Given the description of an element on the screen output the (x, y) to click on. 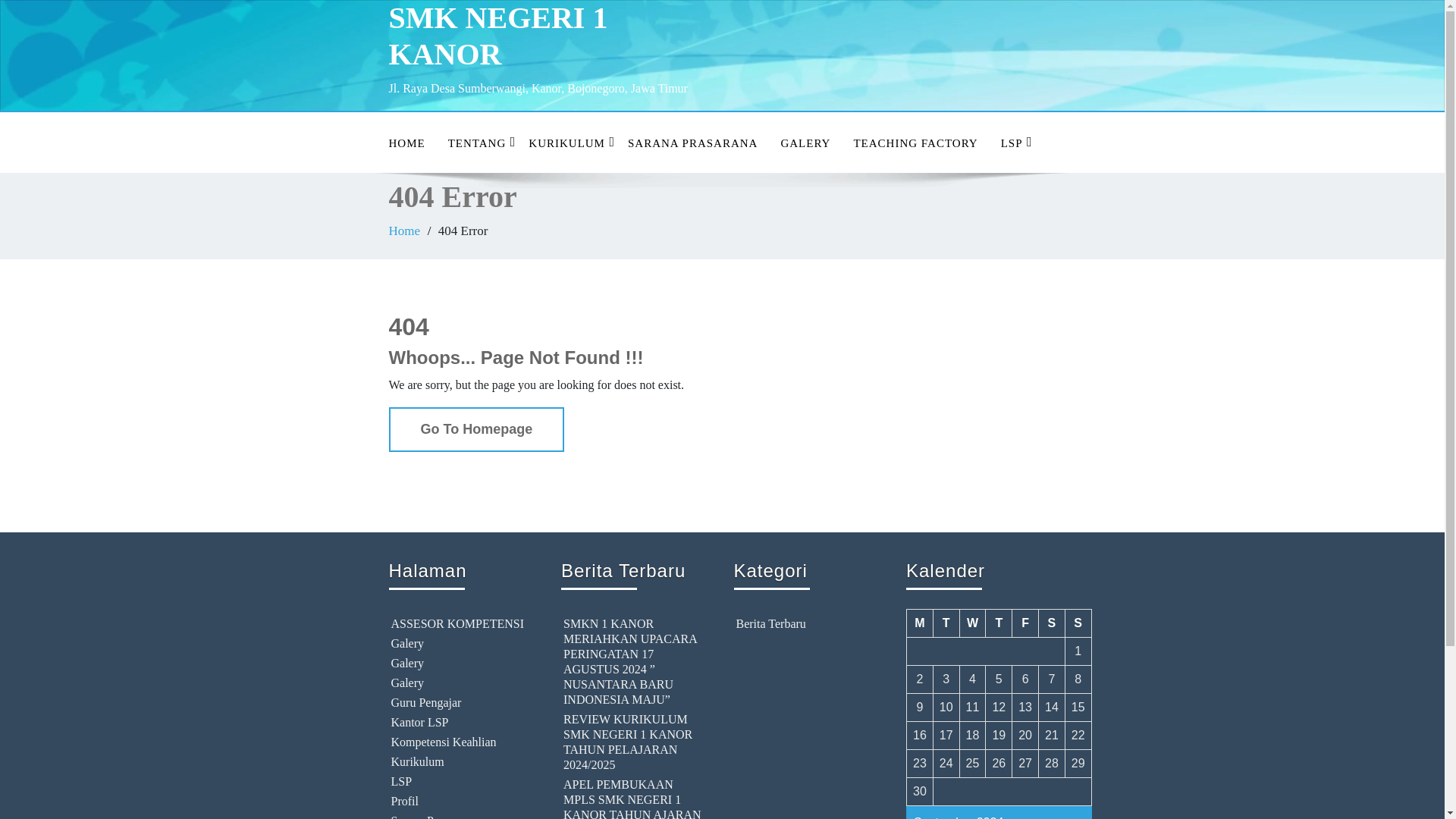
Profil (460, 801)
Sarana Prasarana (460, 816)
Galery (460, 643)
KURIKULUM (565, 143)
HOME (406, 143)
TEACHING FACTORY (914, 143)
Kompetensi Keahlian (460, 742)
SARANA PRASARANA (691, 143)
Home (404, 230)
ASSESOR KOMPETENSI (460, 623)
